Given the description of an element on the screen output the (x, y) to click on. 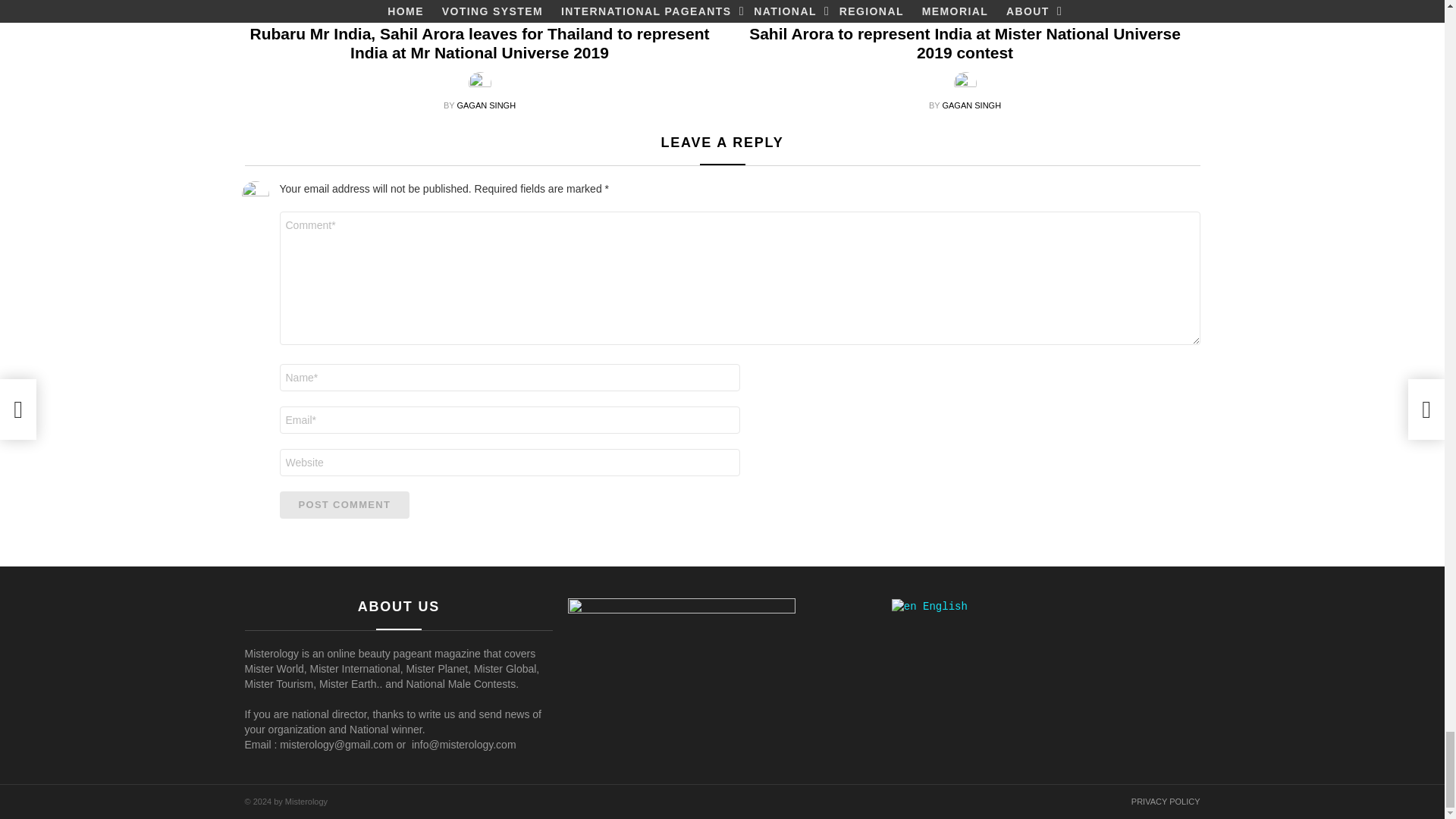
Posts by Gagan Singh (971, 104)
Post Comment (344, 504)
Posts by Gagan Singh (486, 104)
